Given the description of an element on the screen output the (x, y) to click on. 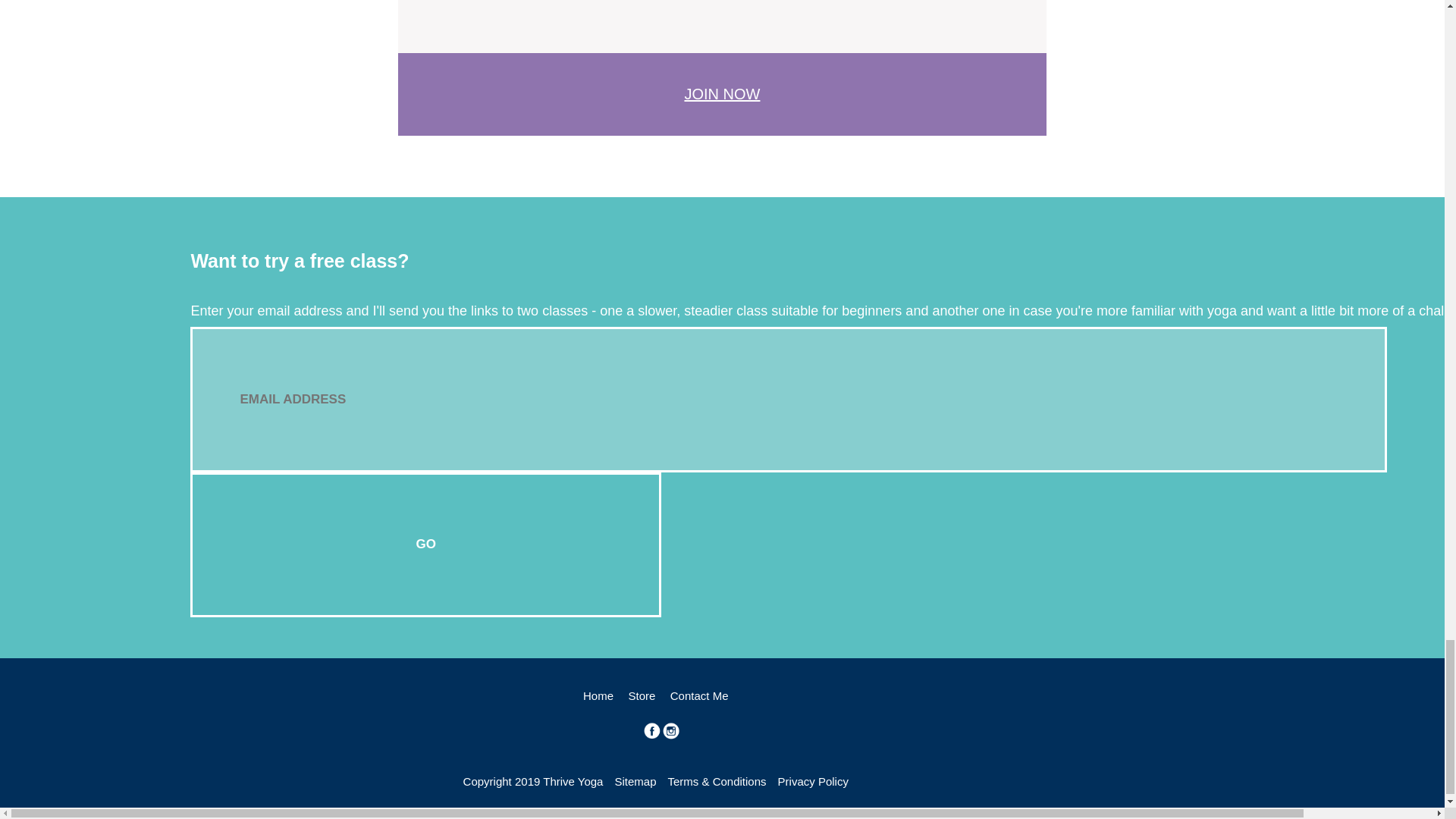
JOIN NOW (721, 94)
Home (597, 695)
GO (425, 544)
GO (425, 544)
Sitemap (635, 780)
Store (641, 695)
Contact Me (699, 695)
Privacy Policy (812, 780)
